Given the description of an element on the screen output the (x, y) to click on. 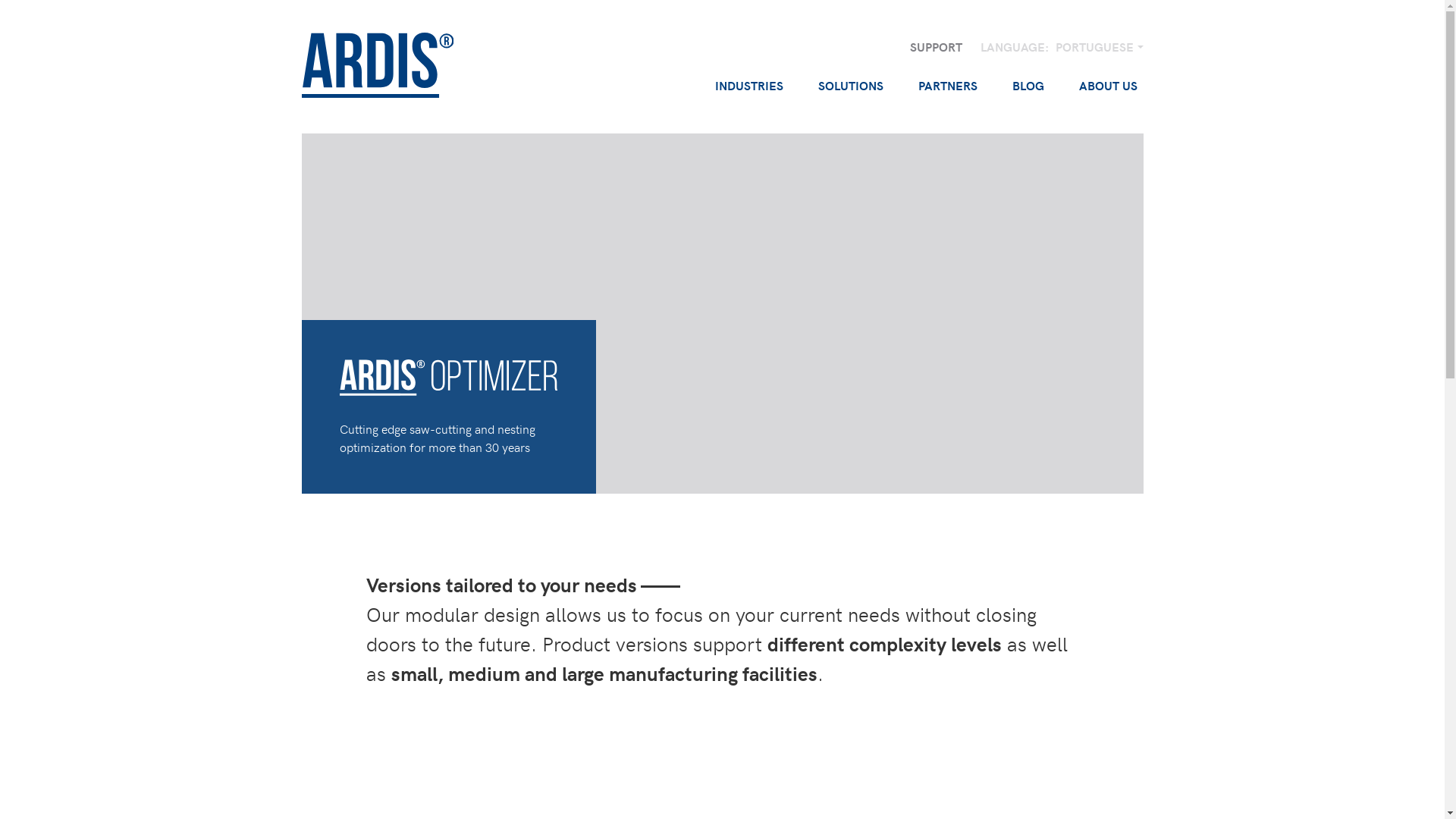
PARTNERS Element type: text (946, 85)
ABOUT US Element type: text (1107, 85)
INDUSTRIES Element type: text (748, 85)
SUPPORT Element type: text (936, 46)
SOLUTIONS Element type: text (849, 85)
PORTUGUESE Element type: text (1099, 46)
BLOG Element type: text (1027, 85)
